Given the description of an element on the screen output the (x, y) to click on. 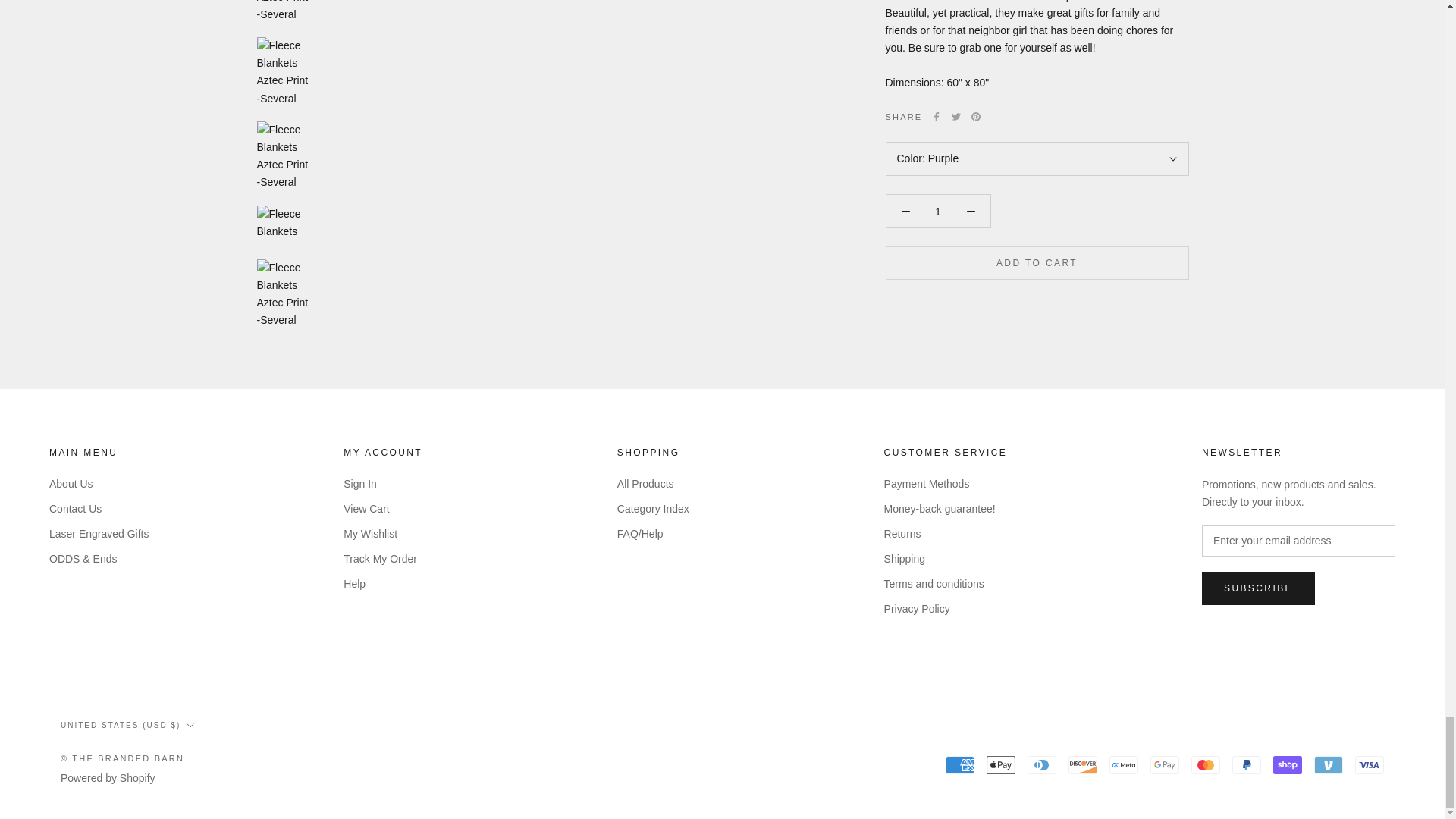
Google Pay (1164, 764)
Meta Pay (1123, 764)
Venmo (1328, 764)
Discover (1082, 764)
American Express (959, 764)
PayPal (1245, 764)
Visa (1369, 764)
Shop Pay (1286, 764)
Mastercard (1205, 764)
Apple Pay (1000, 764)
